Given the description of an element on the screen output the (x, y) to click on. 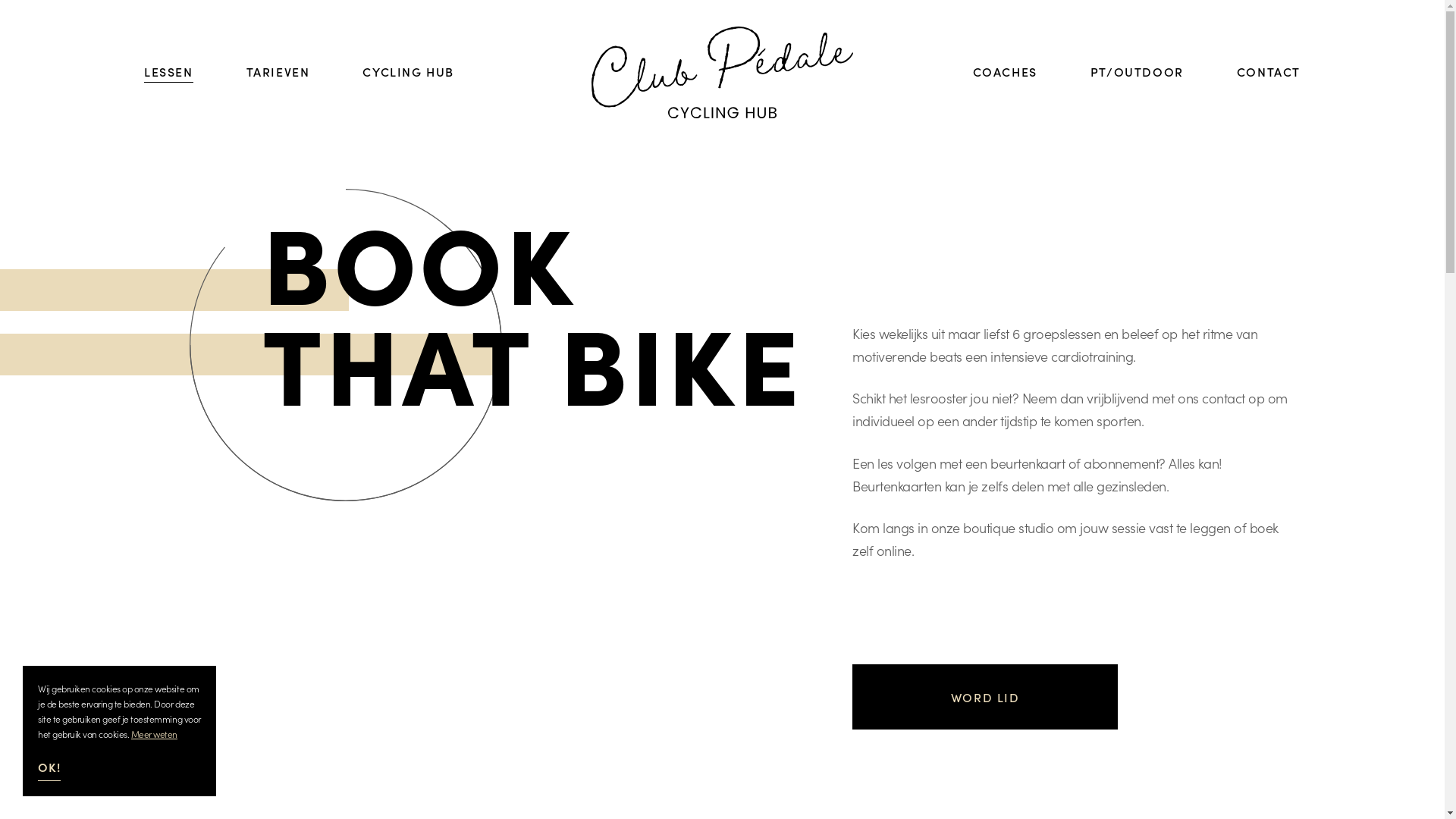
OK! Element type: text (48, 770)
WORD LID Element type: text (984, 696)
CYCLING HUB Element type: text (408, 71)
COACHES Element type: text (1004, 71)
PT/OUTDOOR Element type: text (1136, 71)
LESSEN Element type: text (168, 71)
CONTACT Element type: text (1268, 71)
Overslaan en naar de inhoud gaan Element type: text (0, 0)
TARIEVEN Element type: text (278, 71)
Meer weten Element type: text (154, 734)
